Given the description of an element on the screen output the (x, y) to click on. 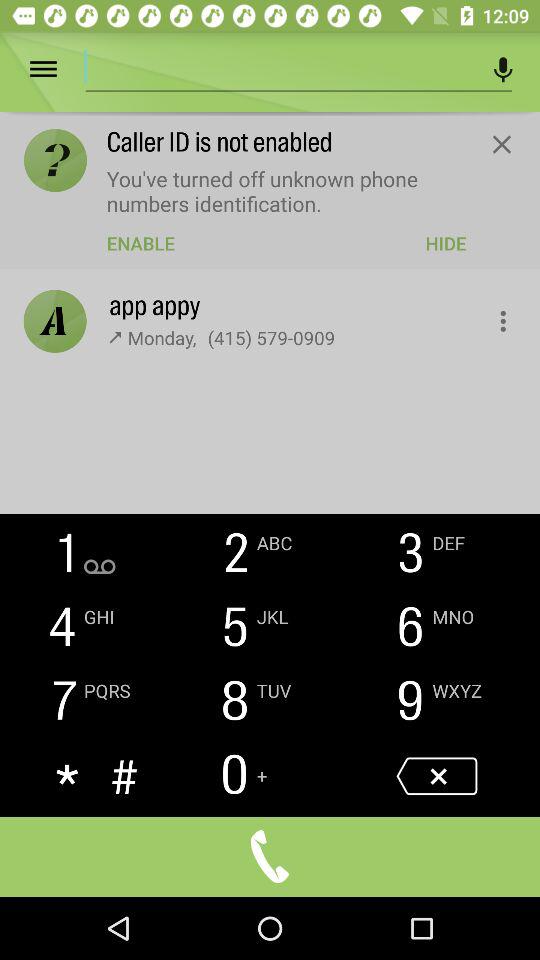
go to advertisement (281, 66)
